Given the description of an element on the screen output the (x, y) to click on. 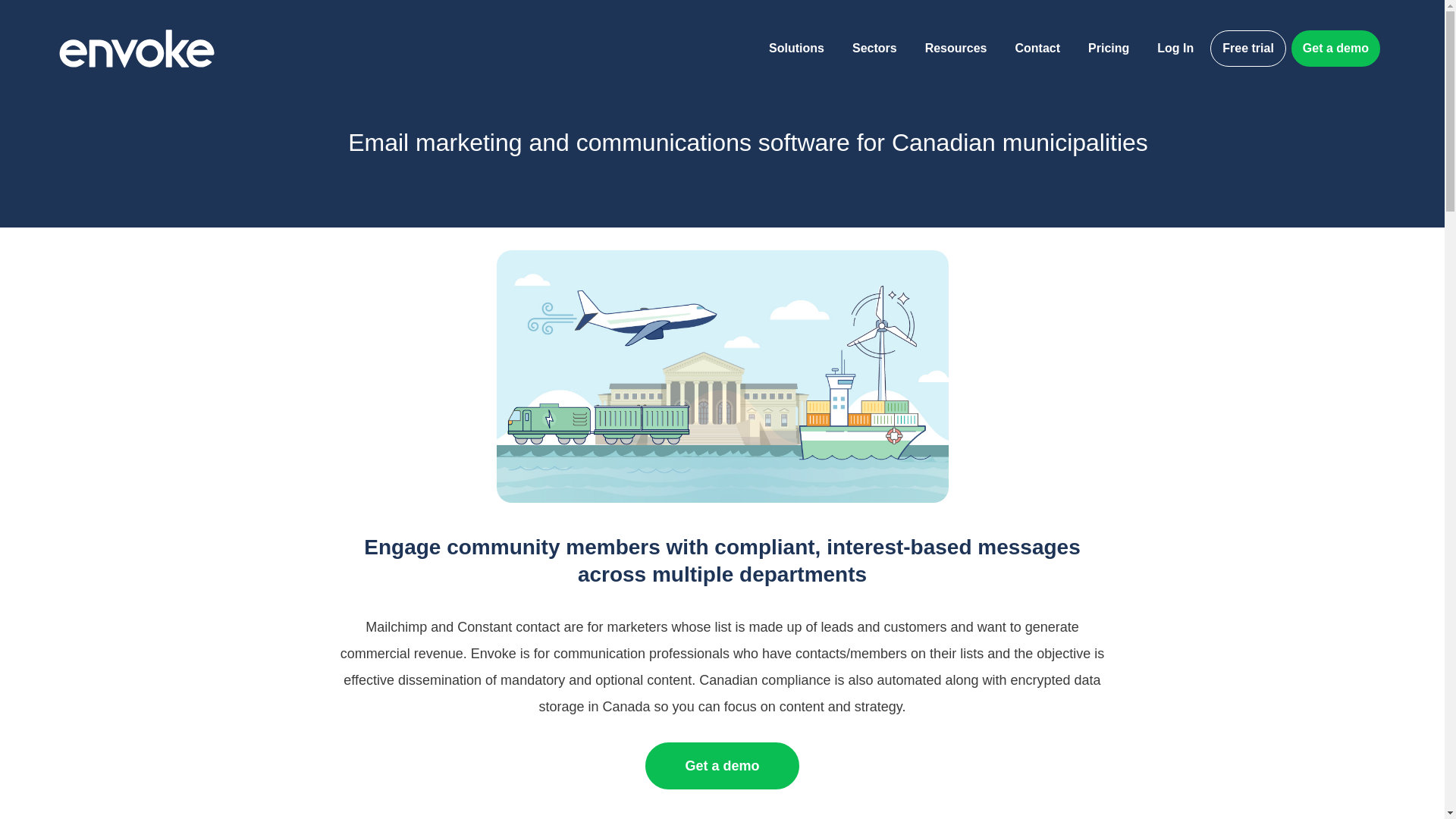
Free trial (1247, 48)
Resources (956, 48)
Get a demo (1335, 48)
Sectors (874, 48)
Solutions (796, 48)
Pricing (1108, 48)
Log In (1175, 48)
Contact (1037, 48)
